Given the description of an element on the screen output the (x, y) to click on. 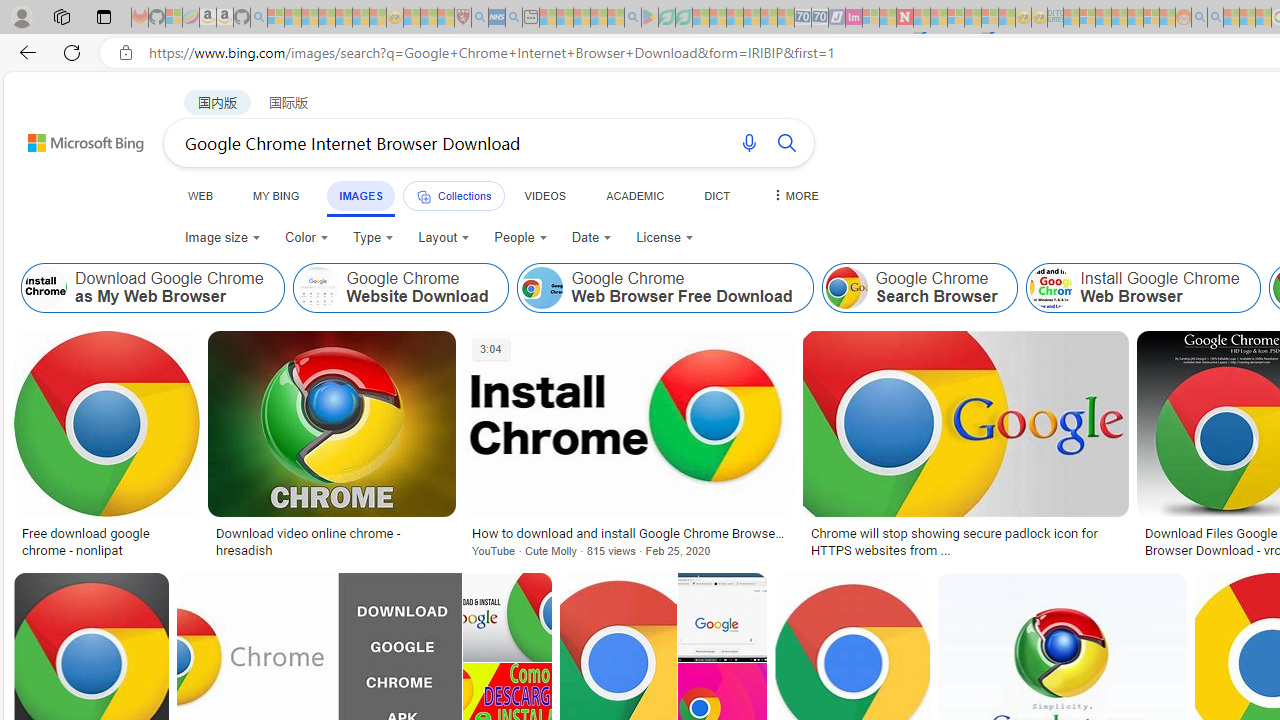
Kinda Frugal - MSN - Sleeping (1135, 17)
Class: item col (1143, 287)
Jobs - lastminute.com Investor Portal - Sleeping (853, 17)
Class: b_pri_nav_svg (423, 196)
People (521, 237)
Free download google chrome - nonlipatSave (110, 448)
New Report Confirms 2023 Was Record Hot | Watch - Sleeping (343, 17)
